Given the description of an element on the screen output the (x, y) to click on. 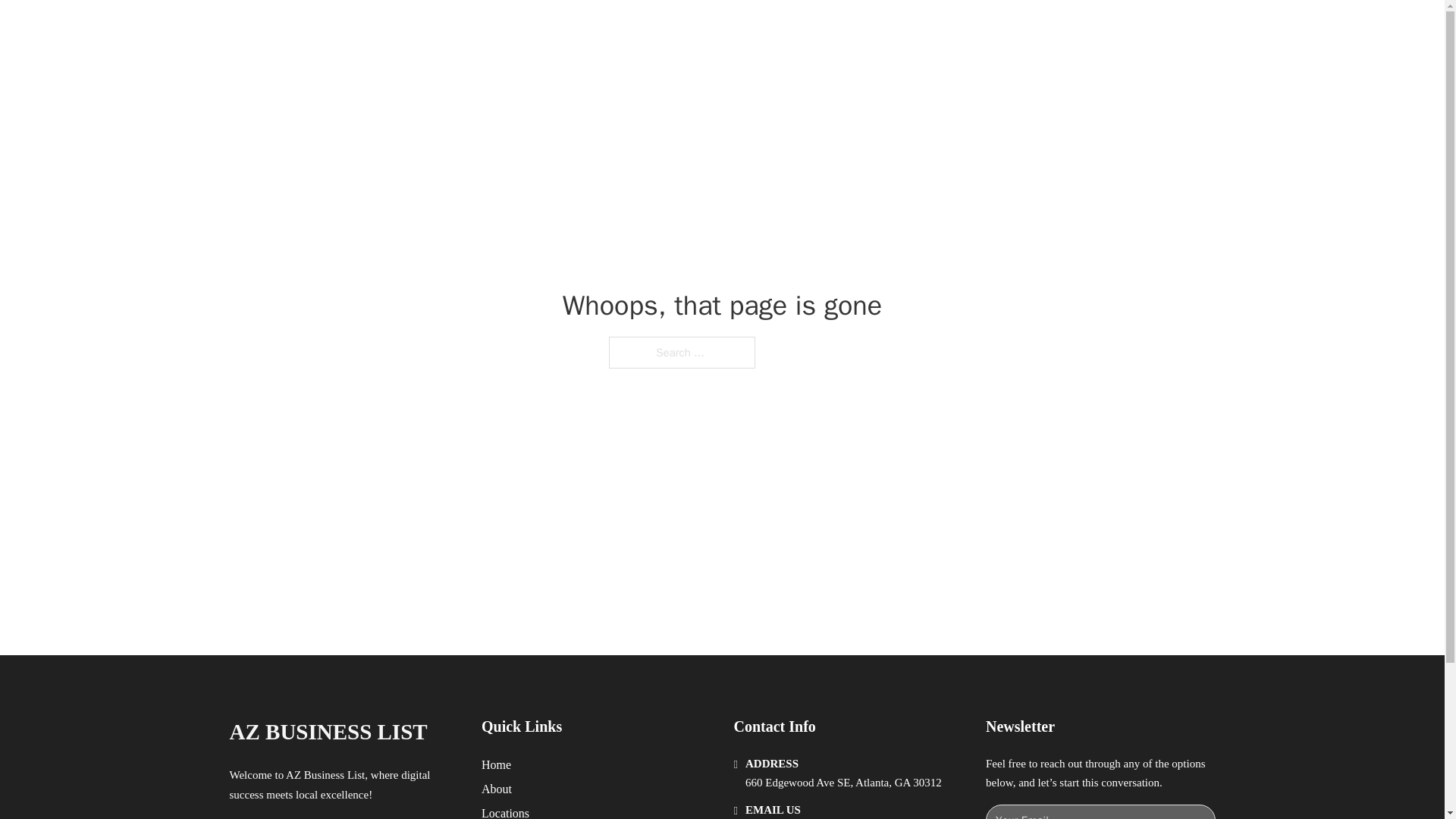
LOCATIONS (978, 29)
Locations (505, 811)
AZ BUSINESS LIST (327, 732)
HOME (907, 29)
AZ BUSINESS LIST (403, 28)
About (496, 788)
Home (496, 764)
